Given the description of an element on the screen output the (x, y) to click on. 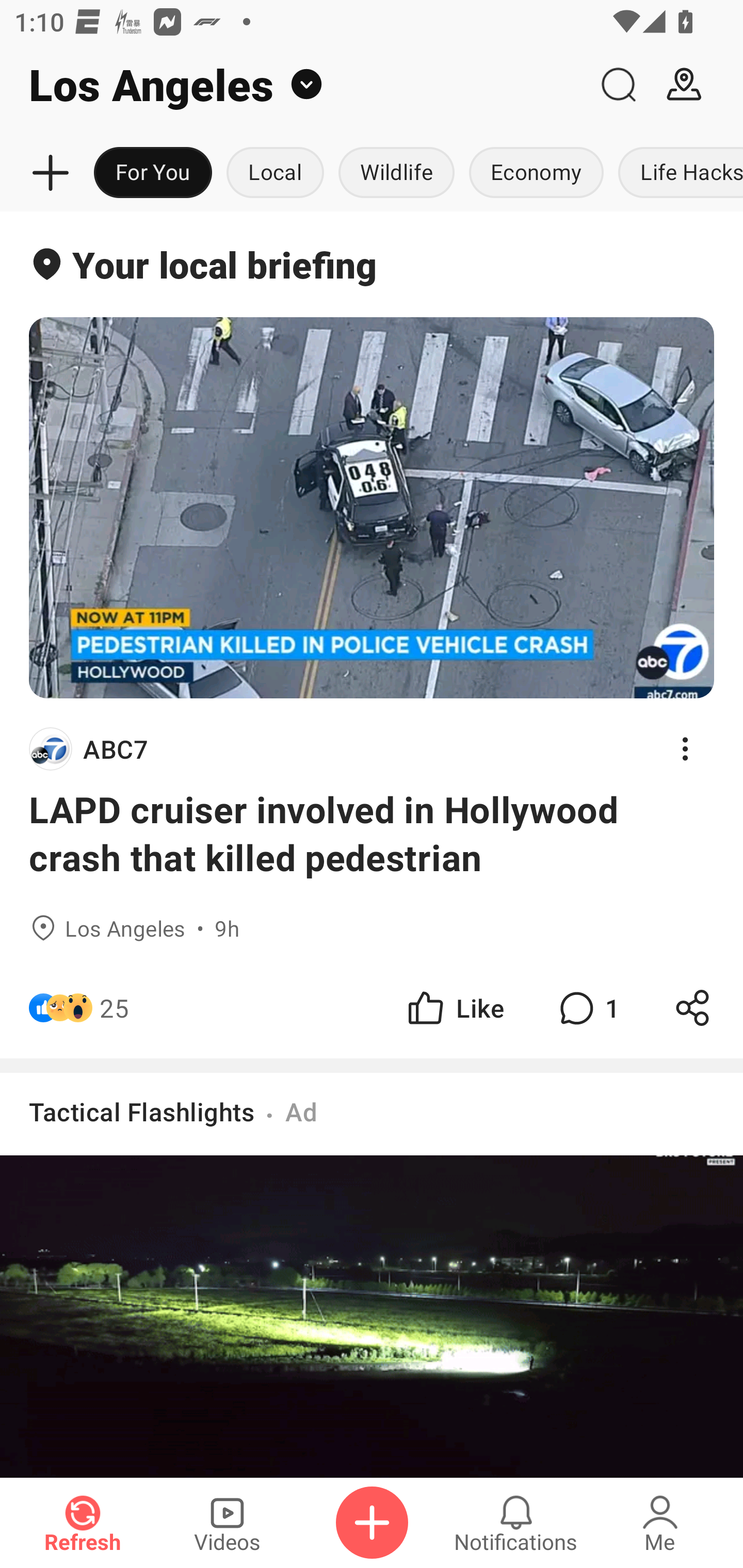
Los Angeles (292, 84)
For You (152, 172)
Local (275, 172)
Wildlife (396, 172)
Economy (536, 172)
Life Hacks (676, 172)
25 (114, 1007)
Like (454, 1007)
1 (587, 1007)
Tactical Flashlights (141, 1111)
Videos (227, 1522)
Notifications (516, 1522)
Me (659, 1522)
